Given the description of an element on the screen output the (x, y) to click on. 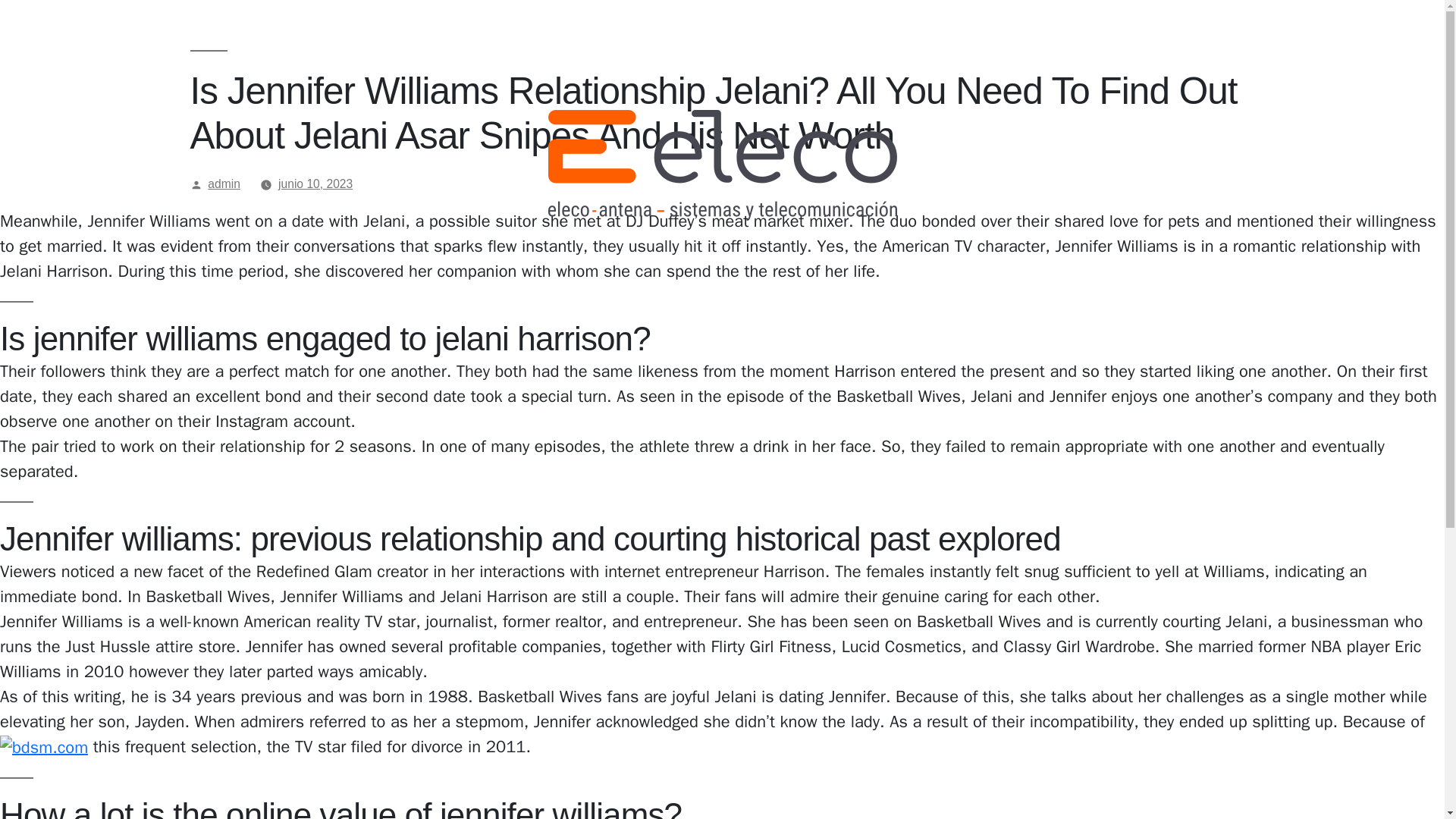
junio 10, 2023 (315, 183)
admin (224, 183)
